Given the description of an element on the screen output the (x, y) to click on. 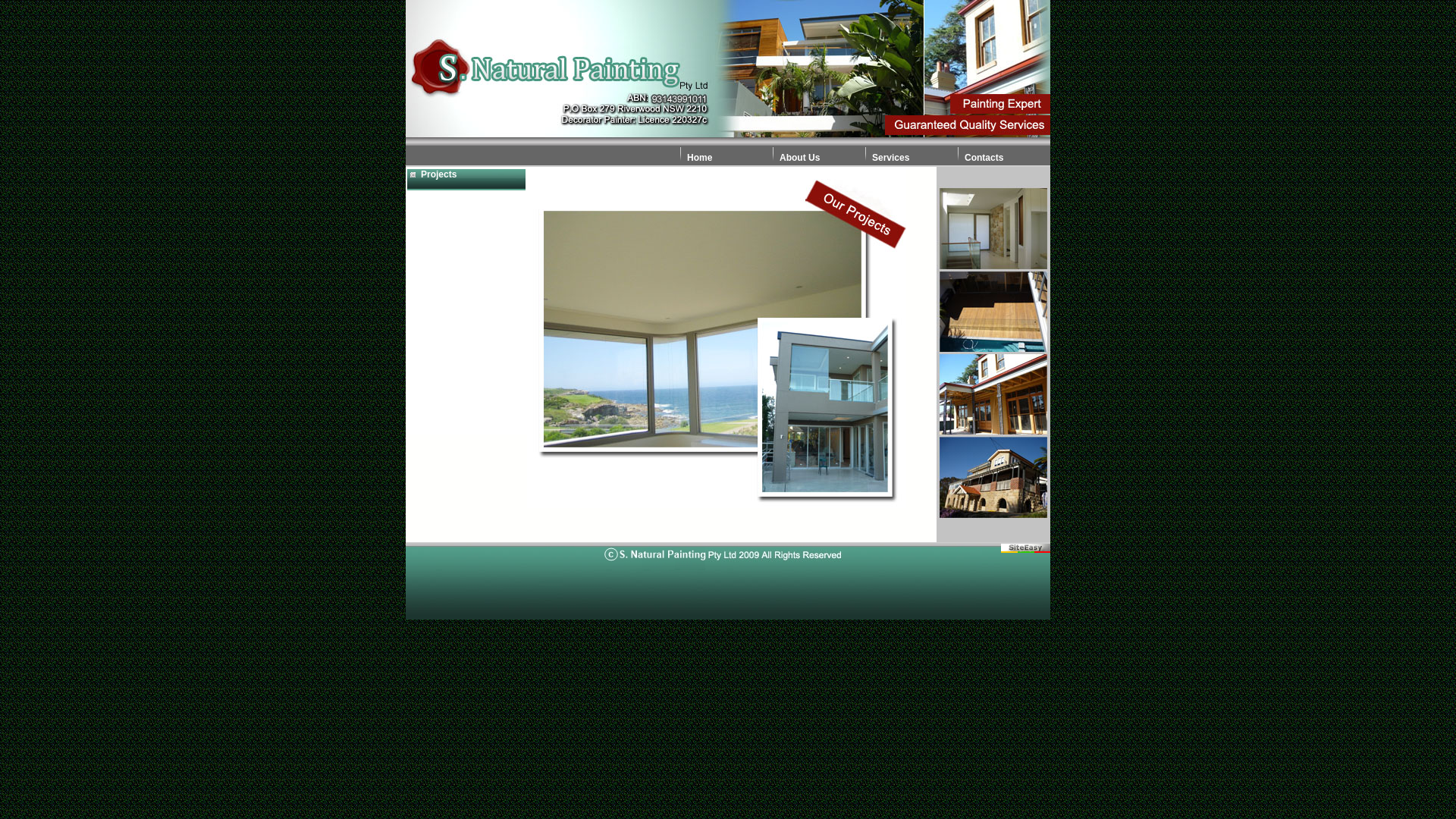
About Us Element type: text (799, 157)
Home Element type: text (699, 157)
Projects Element type: text (466, 179)
Contacts Element type: text (983, 157)
Services Element type: text (890, 157)
